Given the description of an element on the screen output the (x, y) to click on. 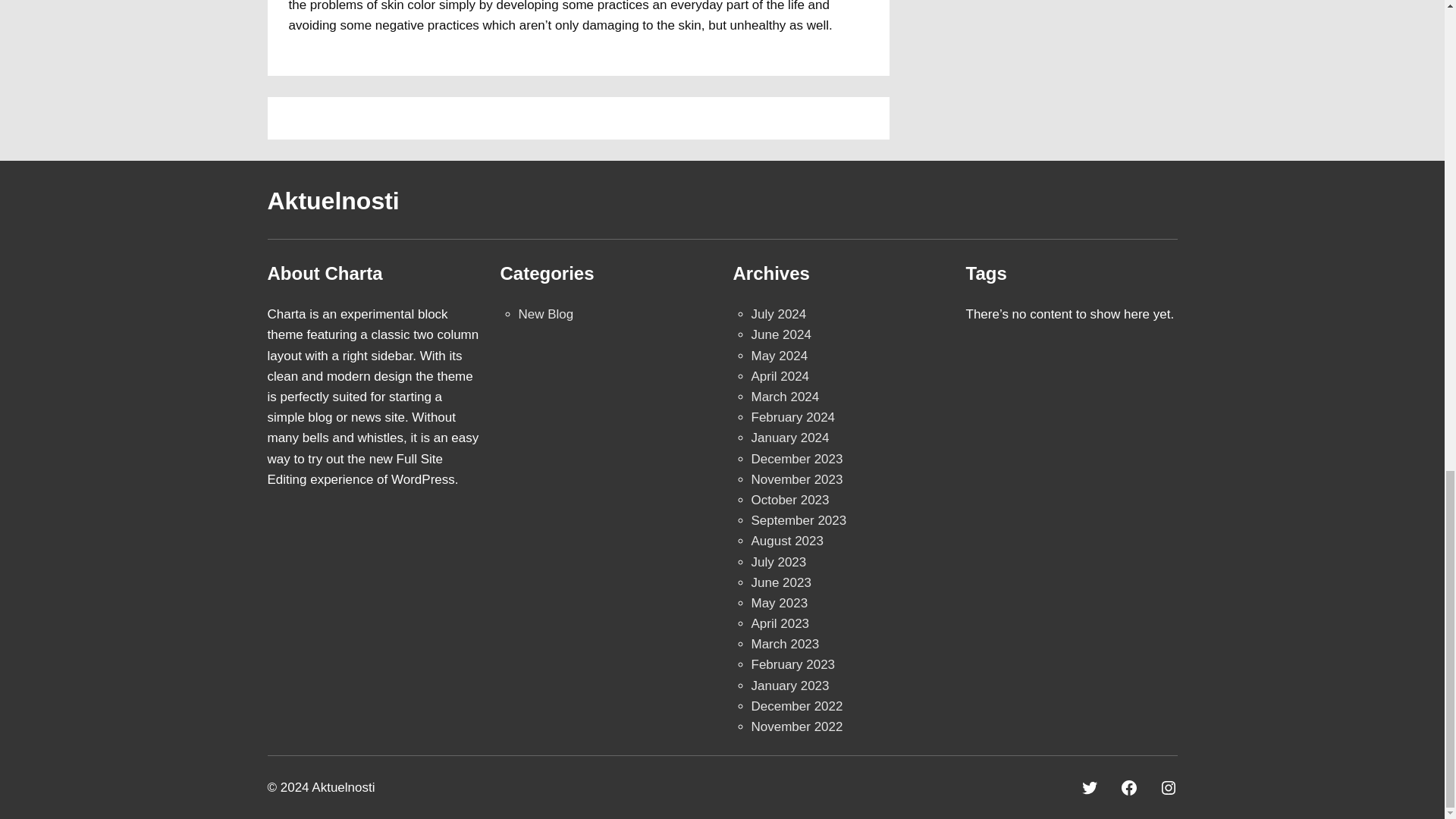
May 2024 (779, 355)
Aktuelnosti (332, 200)
June 2024 (780, 334)
New Blog (545, 314)
July 2024 (778, 314)
February 2024 (792, 417)
April 2024 (780, 376)
January 2024 (789, 437)
March 2024 (784, 396)
December 2023 (797, 459)
